Given the description of an element on the screen output the (x, y) to click on. 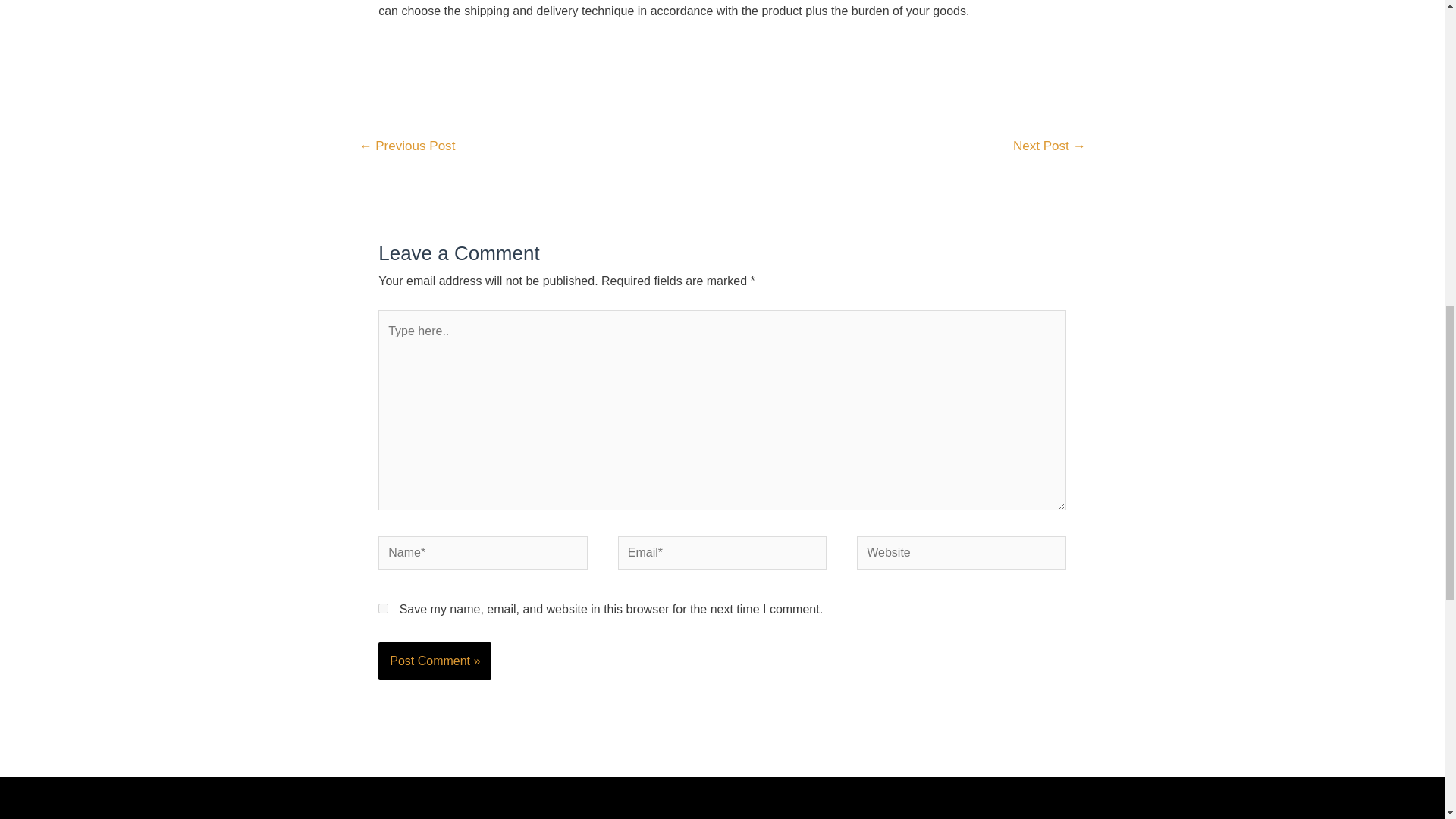
yes (383, 608)
